Given the description of an element on the screen output the (x, y) to click on. 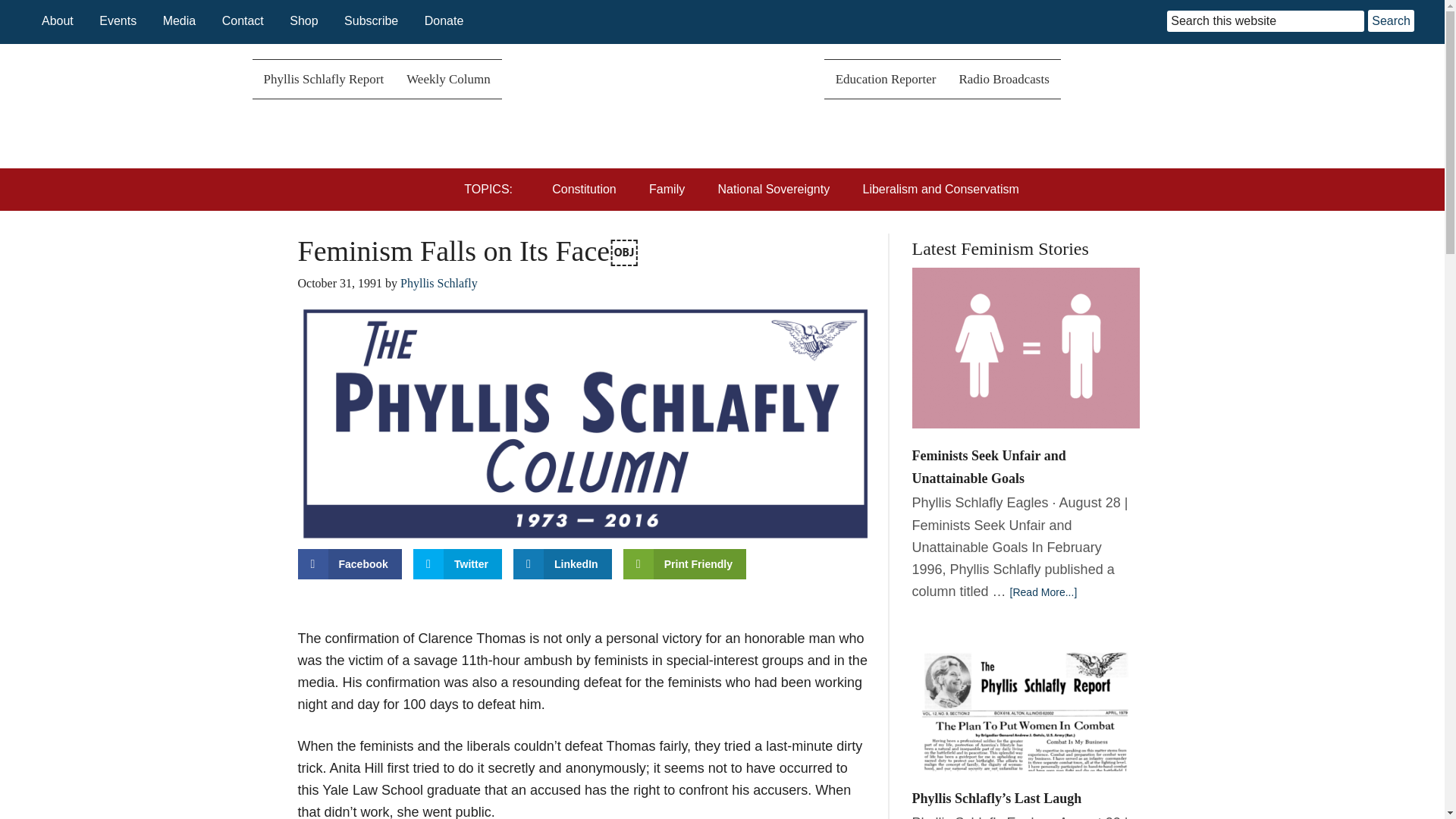
Constitution   (586, 189)
Donate (444, 20)
Weekly Column (448, 78)
Events (117, 20)
Education Reporter (885, 78)
Phyllis Schlafly Report (322, 78)
Media (179, 20)
Search (1390, 20)
Shop (303, 20)
Contact (242, 20)
